Given the description of an element on the screen output the (x, y) to click on. 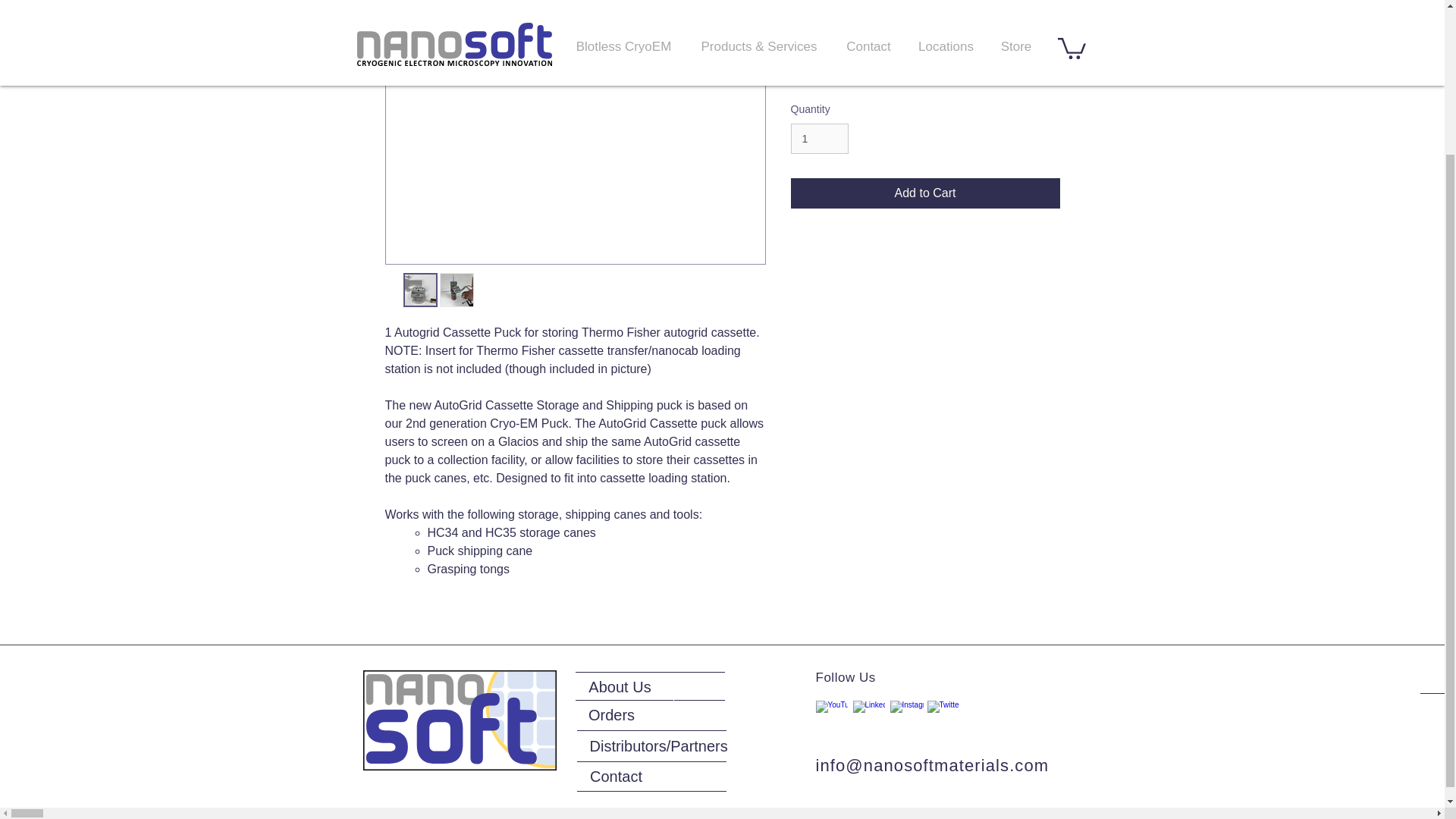
1 (818, 138)
Contact (615, 776)
Orders (611, 715)
Add to Cart (924, 193)
About Us (619, 686)
